Given the description of an element on the screen output the (x, y) to click on. 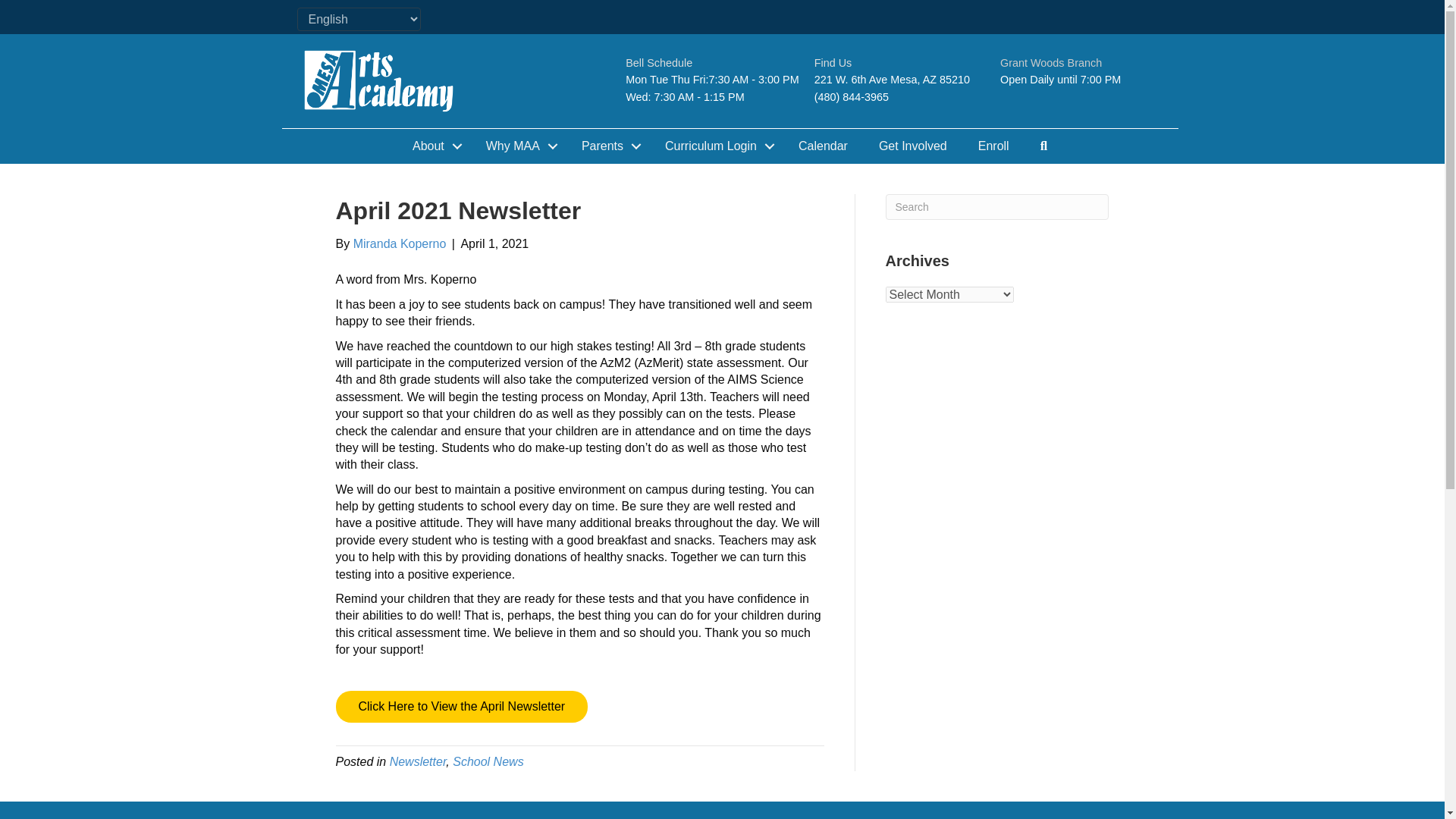
221 W. 6th Ave Mesa, AZ 85210 (891, 79)
Enroll (993, 145)
Parents (607, 145)
Why MAA (518, 145)
Grant Woods Branch (1051, 62)
Mesa-Arts-Academy-Logo-White-2000x800 (379, 80)
Calendar (823, 145)
Curriculum Login (716, 145)
About (433, 145)
Type and press Enter to search. (997, 207)
Get Involved (912, 145)
